Given the description of an element on the screen output the (x, y) to click on. 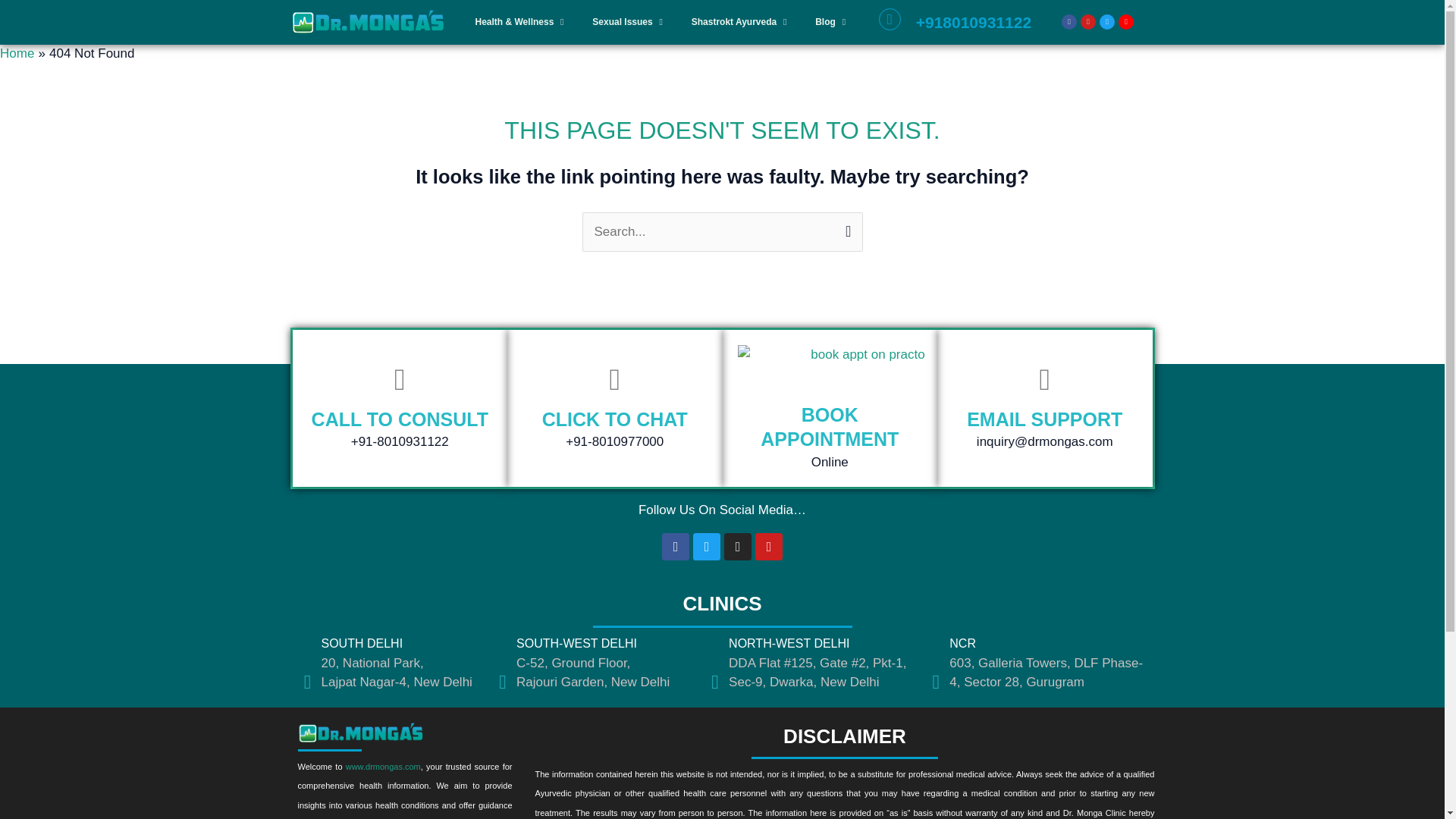
Search (844, 226)
Search (844, 226)
